Given the description of an element on the screen output the (x, y) to click on. 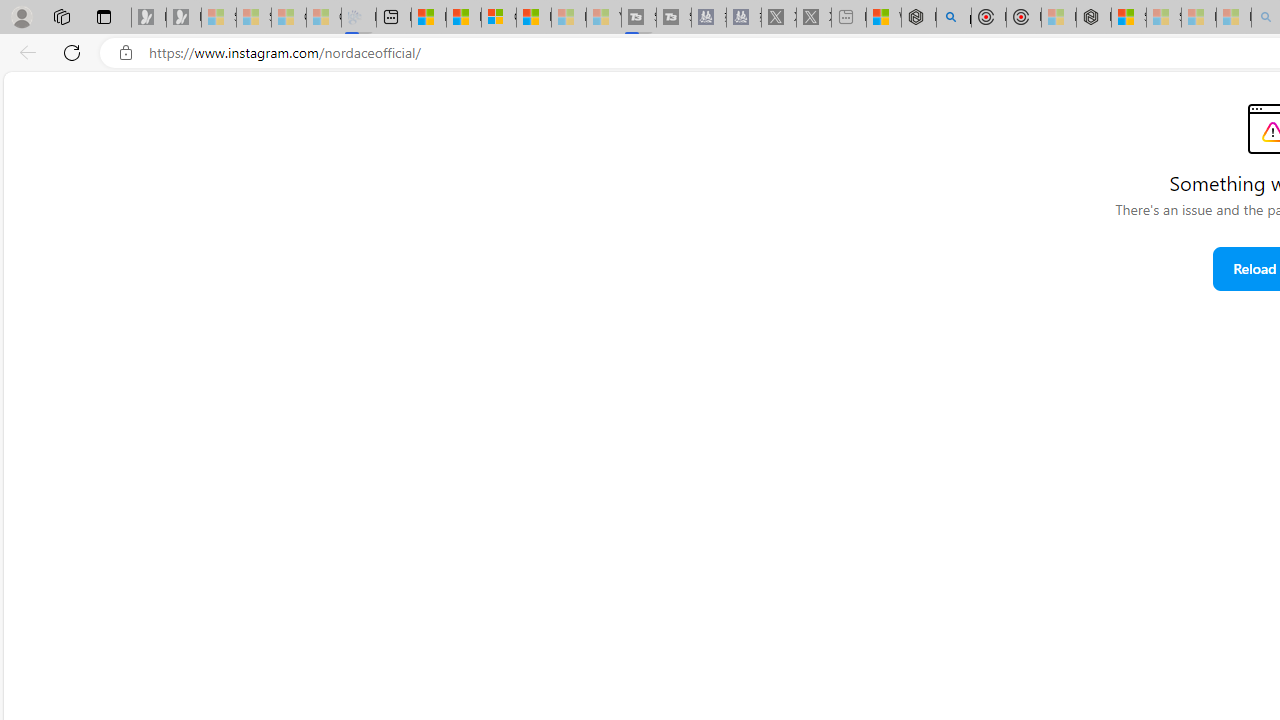
Microsoft Start - Sleeping (568, 17)
Newsletter Sign Up - Sleeping (183, 17)
Nordace - Nordace Siena Is Not An Ordinary Backpack (1093, 17)
Overview (498, 17)
